Given the description of an element on the screen output the (x, y) to click on. 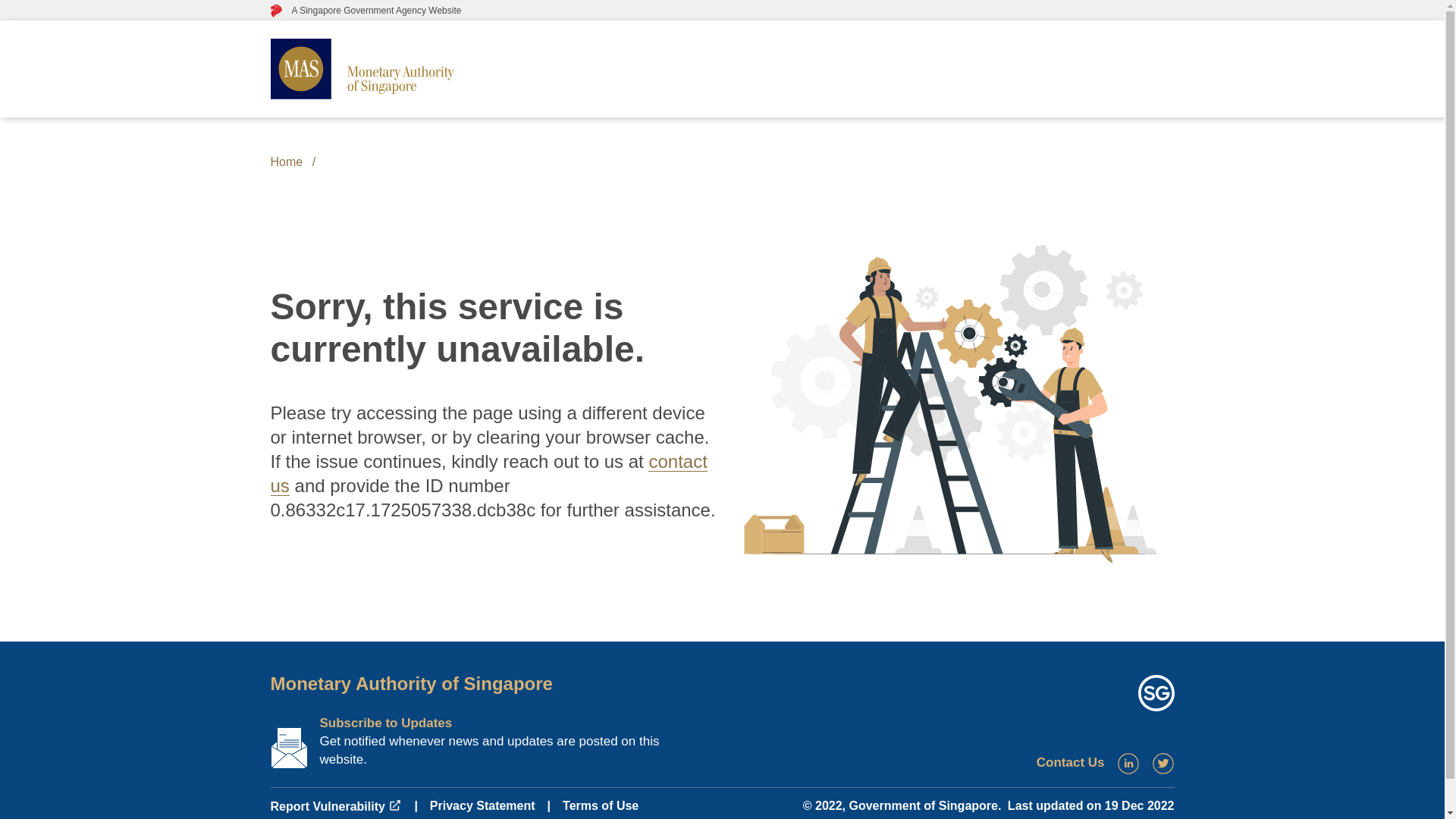
Privacy Statement (482, 805)
Contact Us (1070, 762)
Report Vulnerability (335, 806)
Terms of Use (600, 805)
contact us (487, 473)
A Singapore Government Agency Website (365, 10)
Home (285, 161)
Monetary Authority of Singapore (410, 683)
